Given the description of an element on the screen output the (x, y) to click on. 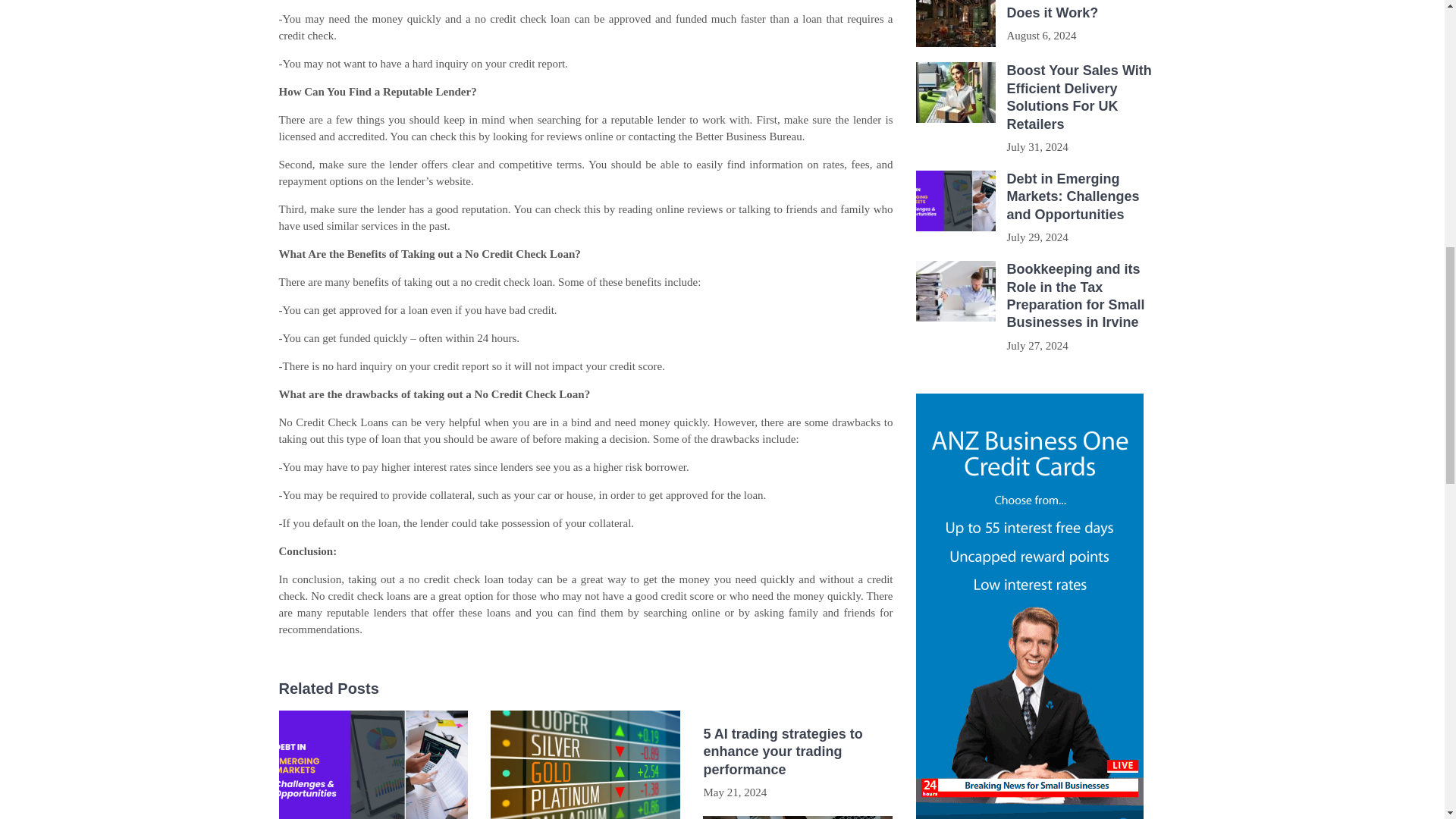
5 AI trading strategies to enhance your trading performance (797, 751)
